Given the description of an element on the screen output the (x, y) to click on. 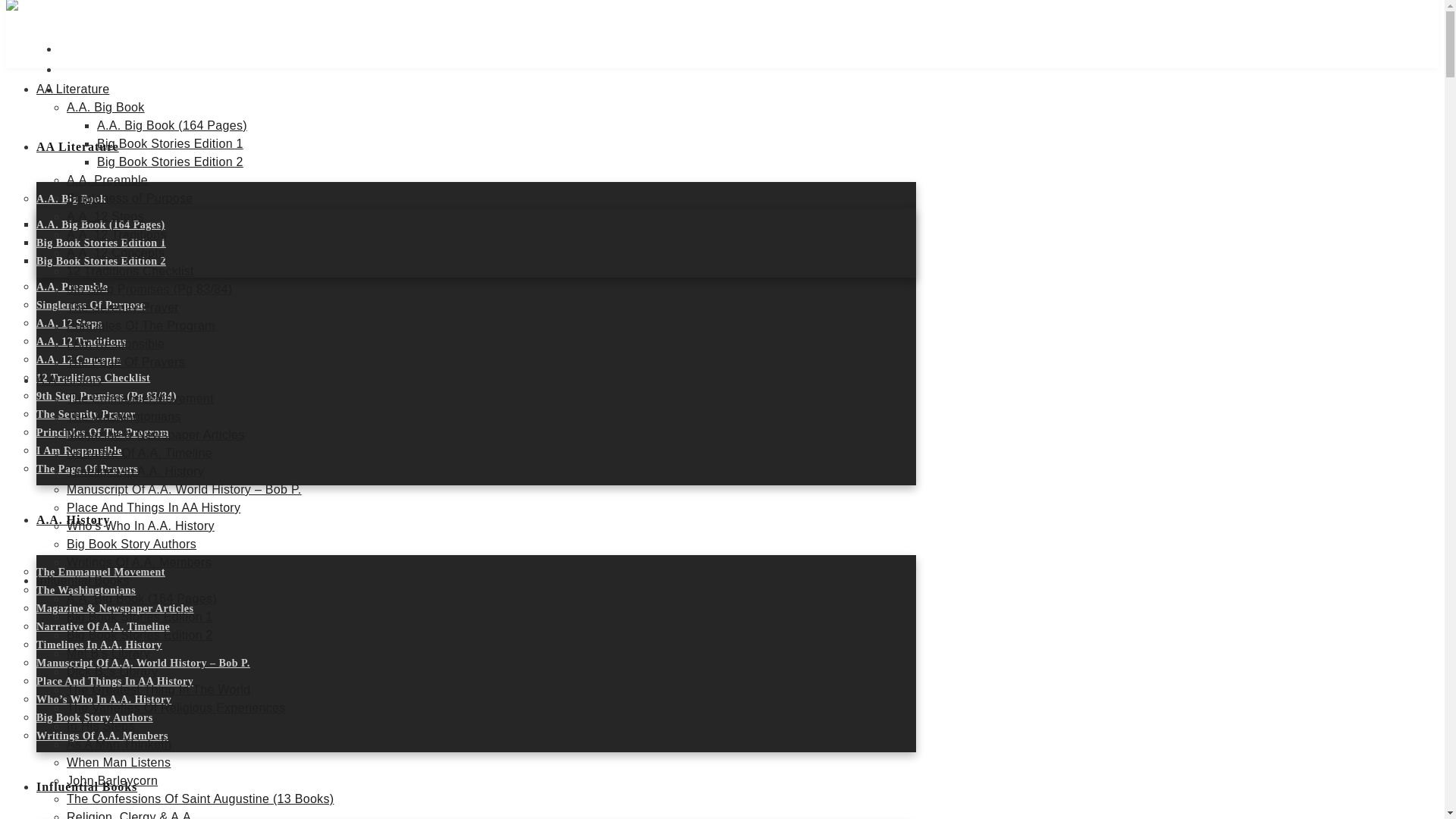
A.A. Preamble (71, 286)
Timelines In A.A. History (98, 644)
The Emmanuel Movement (100, 572)
A.A. 12 Concepts (78, 359)
Narrative Of A.A. Timeline (103, 626)
The Page Of Prayers (87, 469)
AA Literature (77, 146)
Writings Of A.A. Members (102, 736)
A.A. 12 Steps (68, 323)
A.A. Big Book (71, 198)
